Given the description of an element on the screen output the (x, y) to click on. 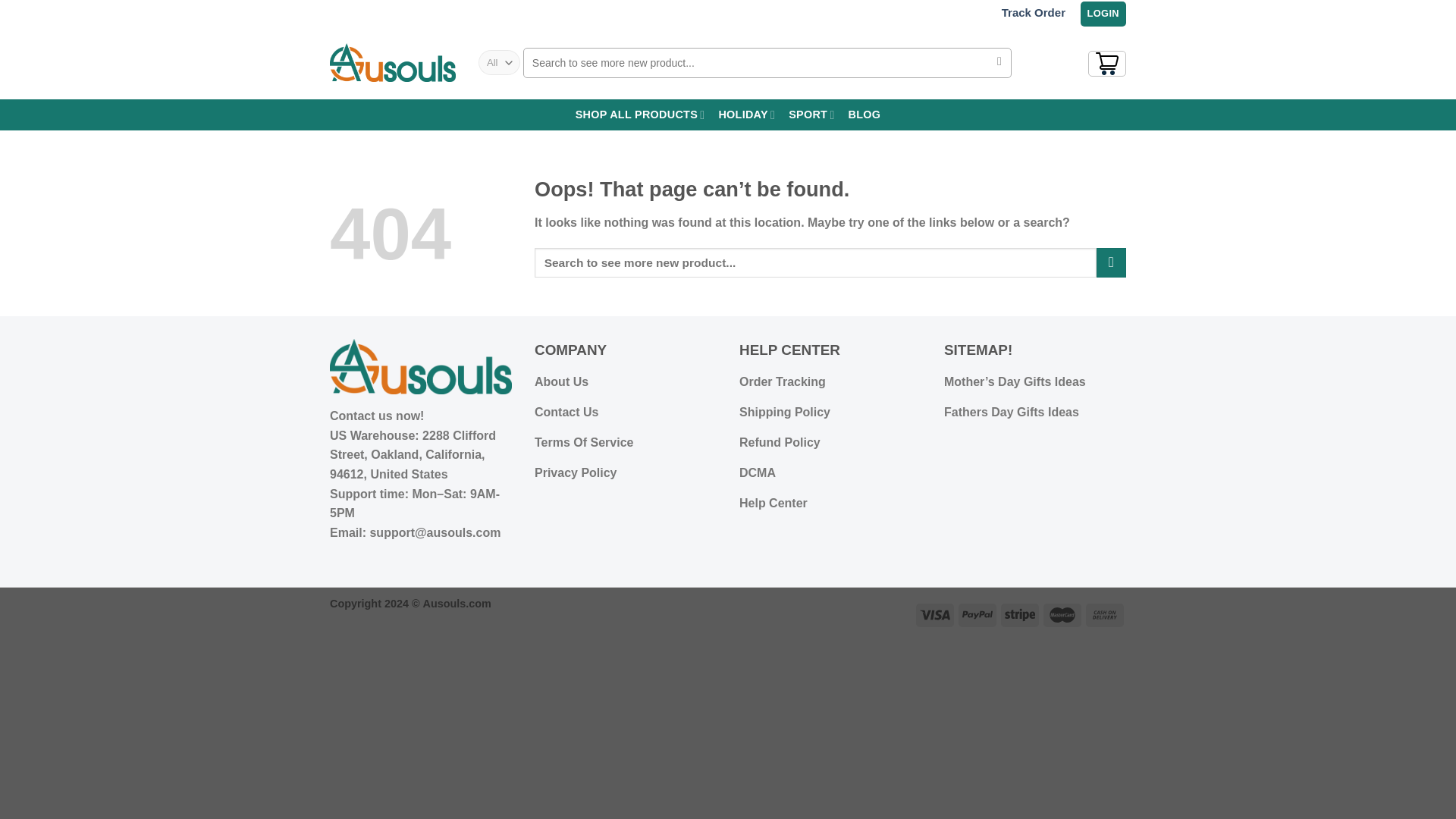
Ausouls - Unique Design On T-Shirt Hoodie Sweatshirt (392, 62)
Cart (1106, 63)
Search (999, 62)
Track Order (1033, 11)
Login (1102, 13)
SPORT (811, 114)
LOGIN (1102, 13)
BLOG (864, 114)
HOLIDAY (745, 114)
SHOP ALL PRODUCTS (639, 114)
